Given the description of an element on the screen output the (x, y) to click on. 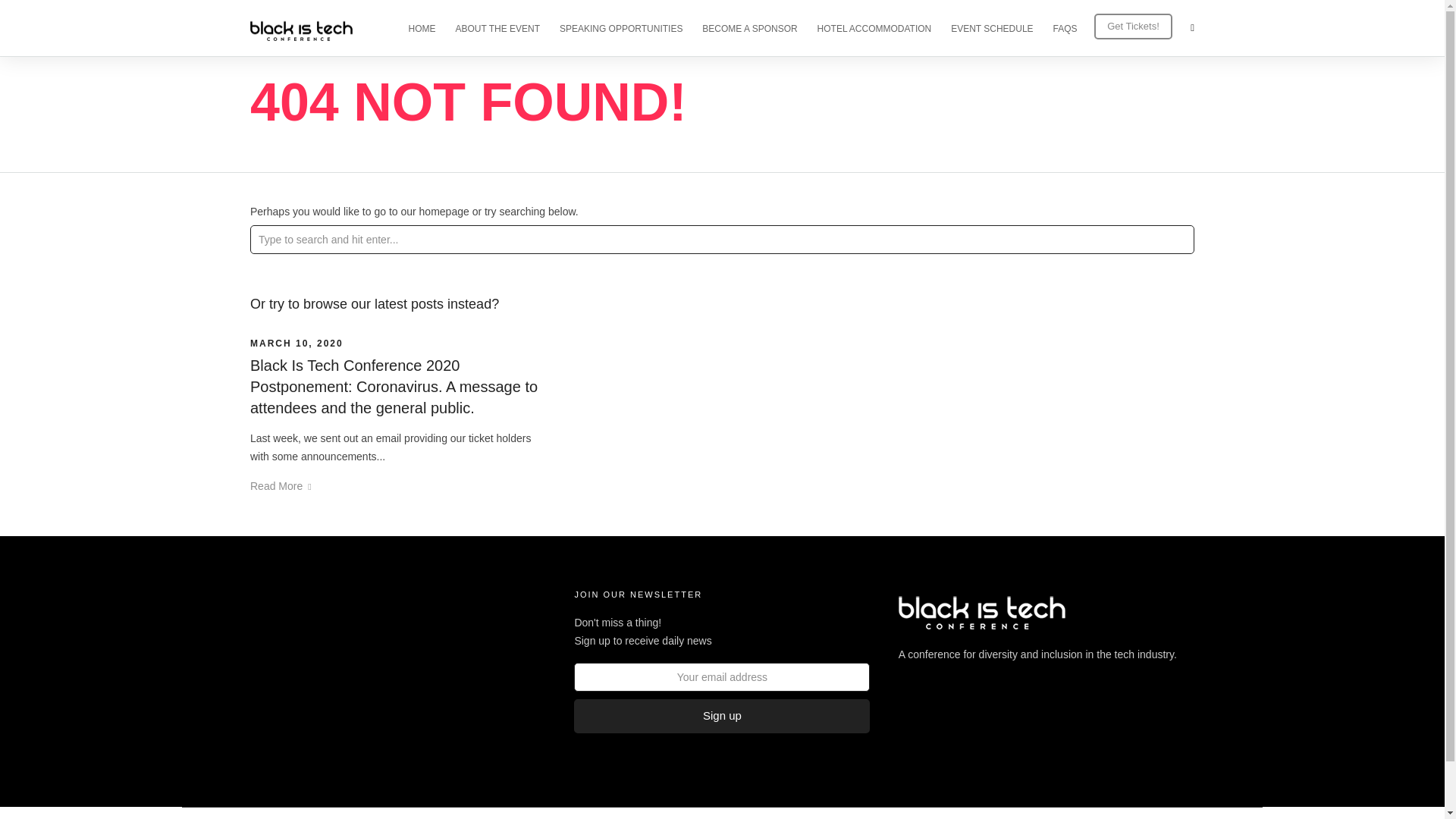
Sign up (721, 716)
HOTEL ACCOMMODATION (880, 27)
SPEAKING OPPORTUNITIES (627, 27)
MARCH 10, 2020 (296, 343)
EVENT SCHEDULE (997, 27)
Speaking Opportunities (305, 641)
Sign up (721, 716)
FAQS (1071, 27)
FAQs (263, 743)
Event Schedule (287, 717)
Get Tickets! (1133, 26)
About The Event (289, 615)
Hotel Accommodation (301, 693)
